Given the description of an element on the screen output the (x, y) to click on. 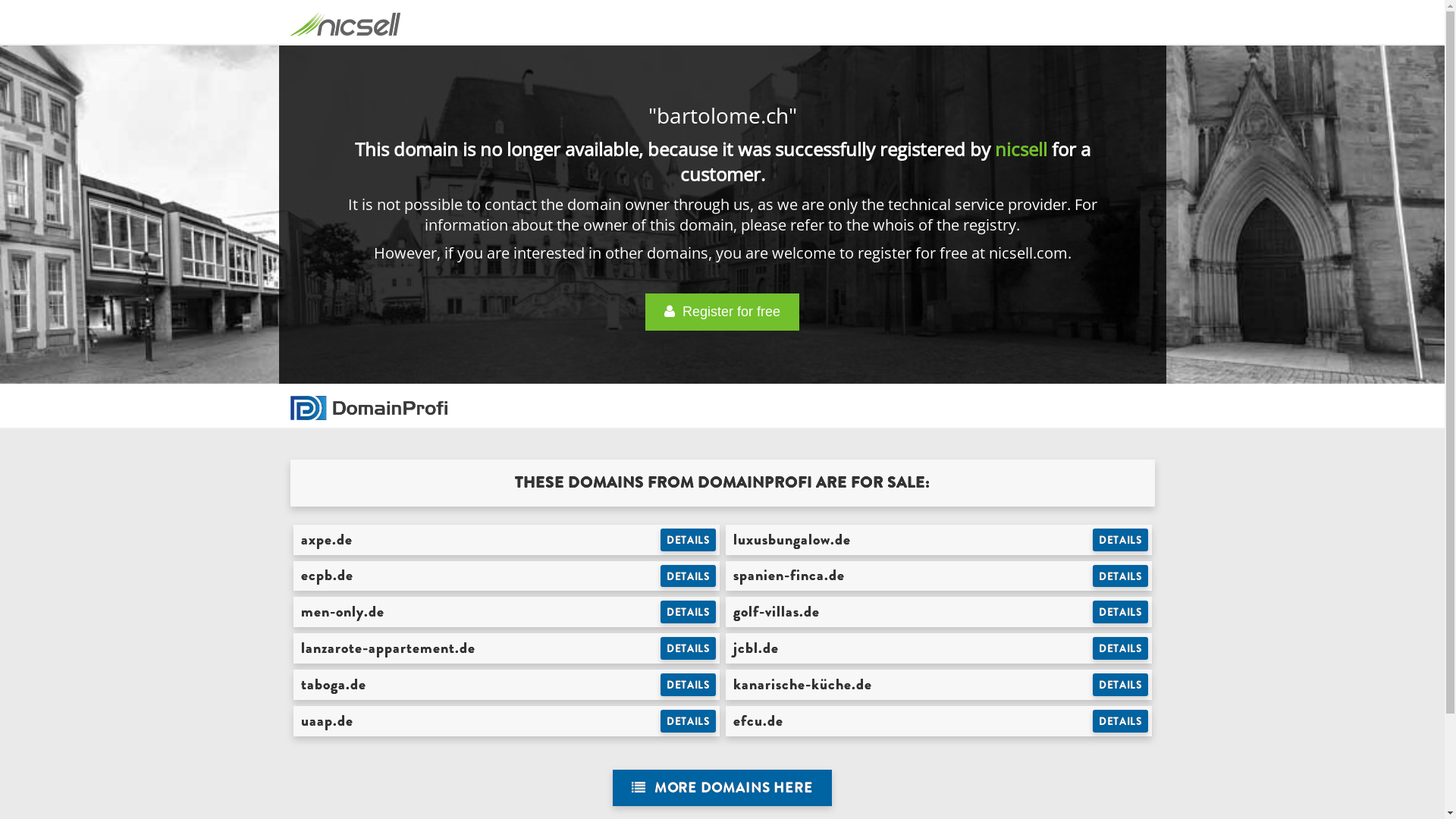
DETAILS Element type: text (1120, 648)
DETAILS Element type: text (687, 539)
DETAILS Element type: text (687, 684)
DETAILS Element type: text (1120, 720)
DETAILS Element type: text (1120, 575)
DETAILS Element type: text (687, 720)
DETAILS Element type: text (1120, 539)
  Register for free Element type: text (722, 311)
  MORE DOMAINS HERE Element type: text (721, 787)
DETAILS Element type: text (687, 611)
DETAILS Element type: text (1120, 684)
DETAILS Element type: text (1120, 611)
DETAILS Element type: text (687, 648)
nicsell Element type: text (1020, 148)
DETAILS Element type: text (687, 575)
